Given the description of an element on the screen output the (x, y) to click on. 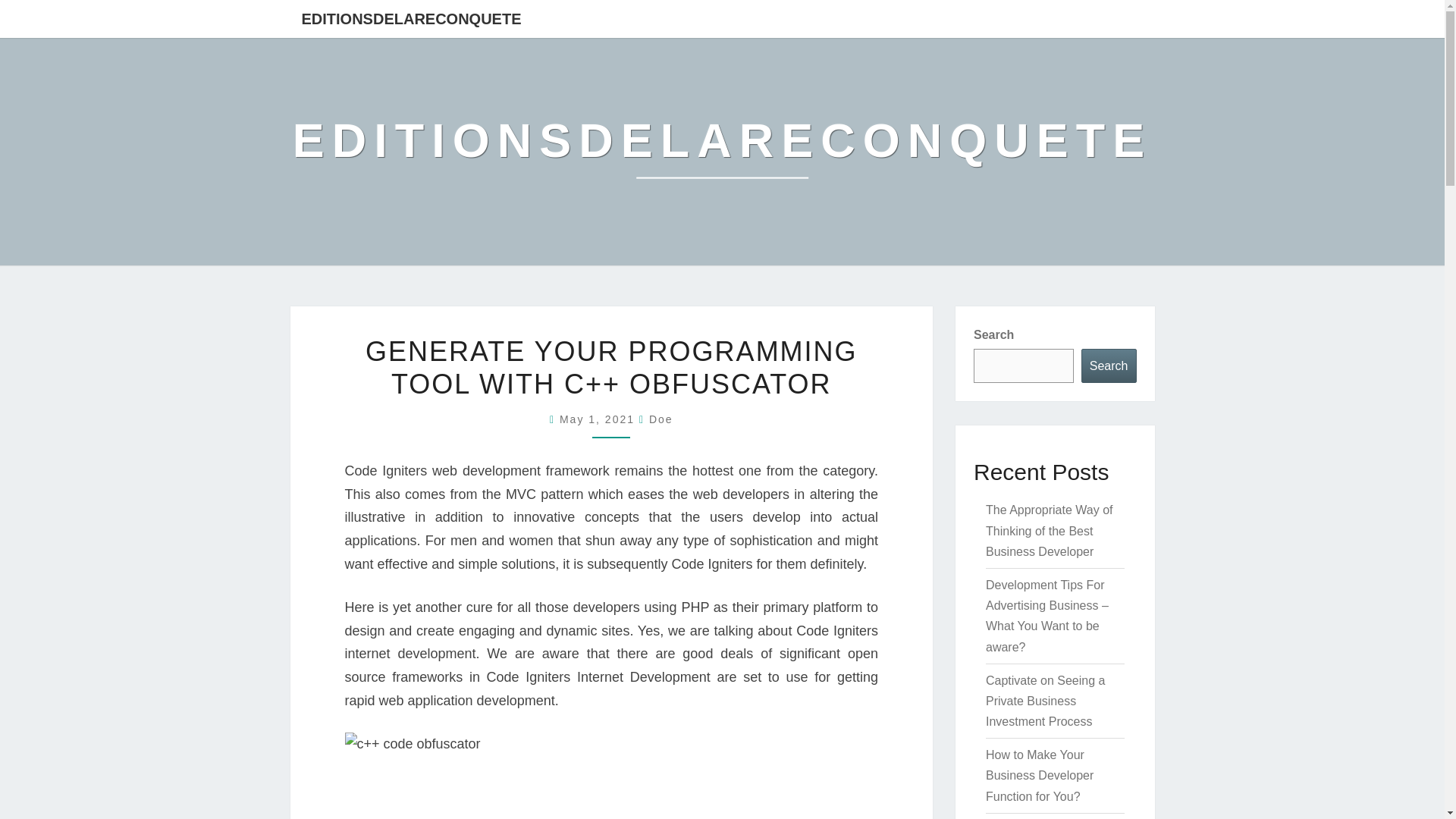
Captivate on Seeing a Private Business Investment Process (1045, 701)
How to Make Your Business Developer Function for You? (1039, 775)
View all posts by Doe (660, 419)
May 1, 2021 (599, 419)
EDITIONSDELARECONQUETE (410, 18)
Doe (660, 419)
Editionsdelareconquete (722, 151)
EDITIONSDELARECONQUETE (722, 151)
Search (1109, 365)
11:43 am (599, 419)
